Given the description of an element on the screen output the (x, y) to click on. 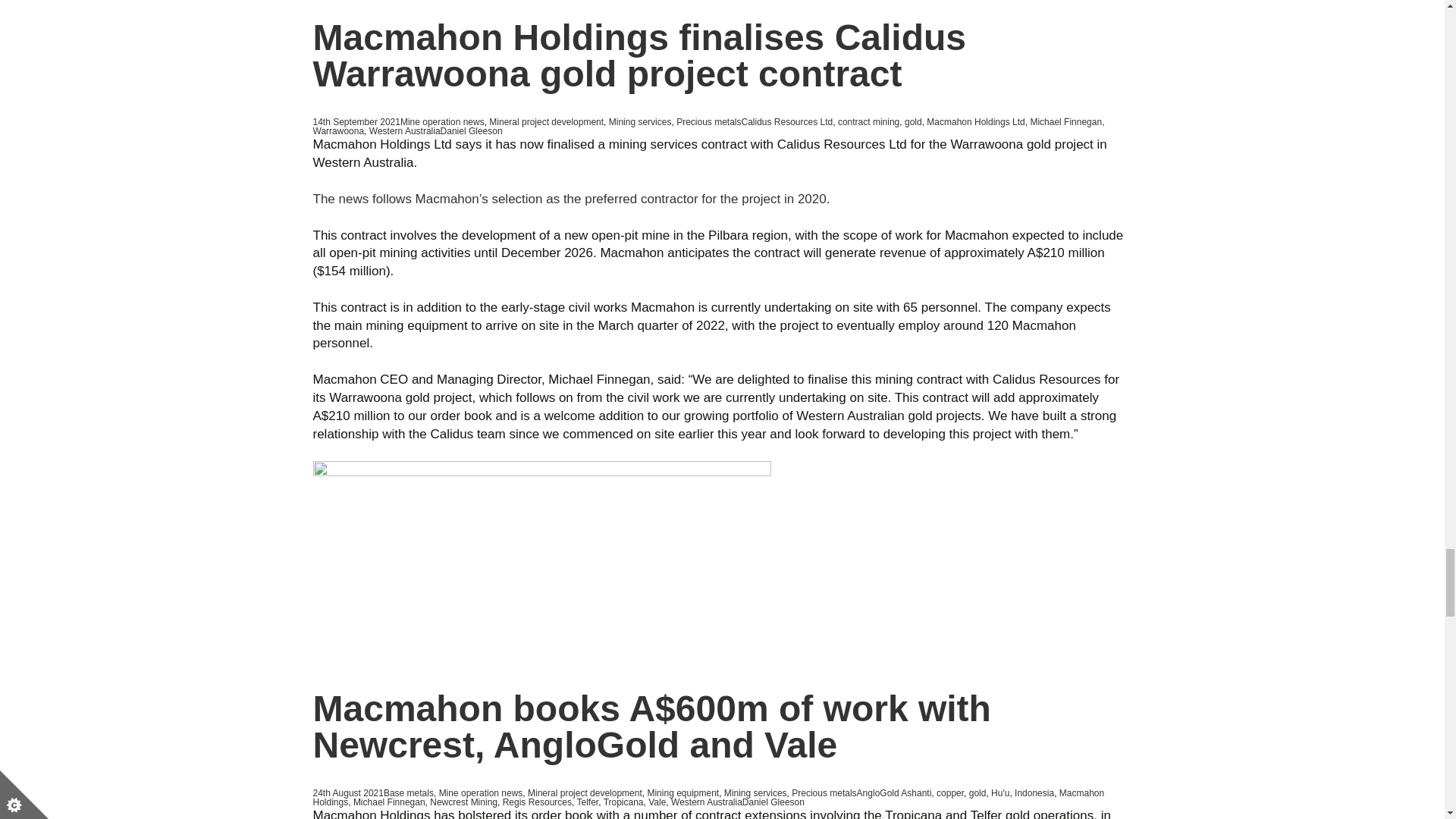
View all posts by Daniel Gleeson (471, 131)
View all posts by Daniel Gleeson (773, 801)
